Given the description of an element on the screen output the (x, y) to click on. 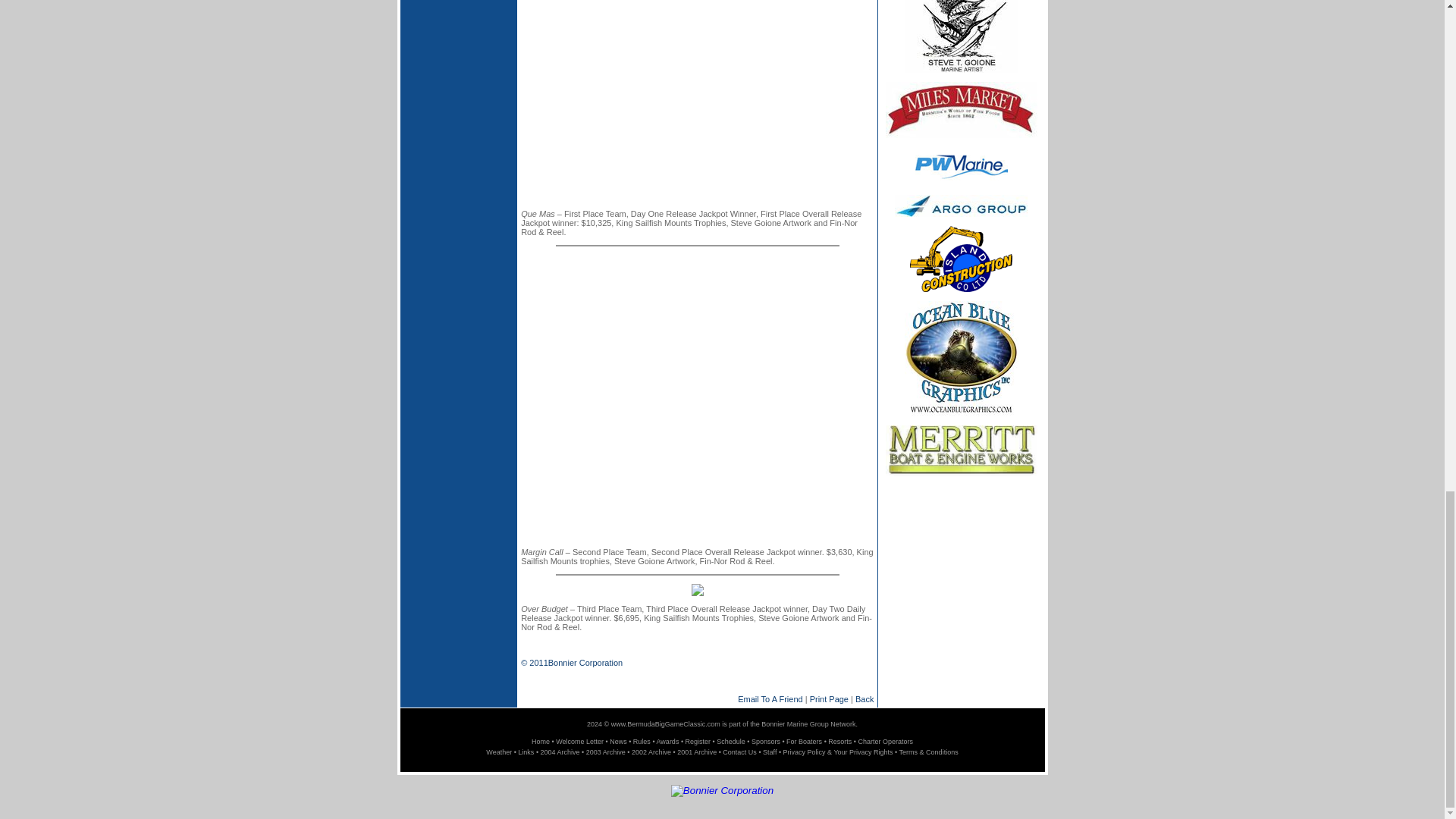
Awards (667, 741)
News (618, 741)
Sponsors (765, 741)
Home (540, 741)
Email To A Friend (770, 698)
Rules (641, 741)
Register (698, 741)
Schedule (730, 741)
Print Page (828, 698)
Welcome Letter (580, 741)
